Given the description of an element on the screen output the (x, y) to click on. 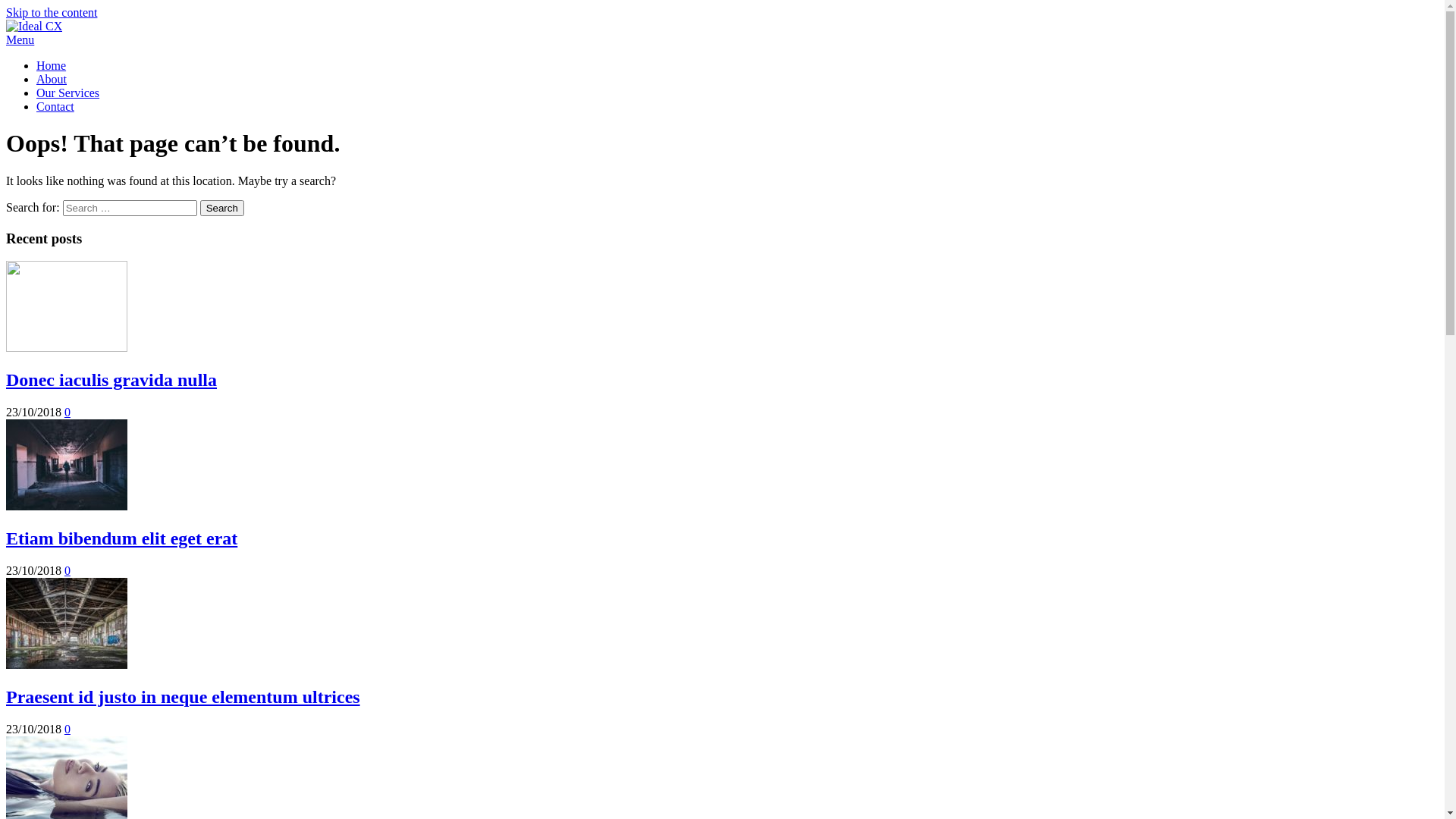
Donec iaculis gravida nulla Element type: hover (66, 347)
Etiam bibendum elit eget erat Element type: hover (66, 505)
Ideal CX Element type: text (28, 51)
About Element type: text (51, 78)
Contact Element type: text (55, 106)
0 Element type: text (67, 411)
Menu Element type: text (722, 40)
Etiam bibendum elit eget erat Element type: text (121, 538)
0 Element type: text (67, 570)
Our Services Element type: text (67, 92)
Donec iaculis gravida nulla Element type: text (111, 379)
Search Element type: text (222, 208)
Praesent id justo in neque elementum ultrices Element type: hover (66, 664)
0 Element type: text (67, 728)
Home Element type: text (50, 65)
Praesent id justo in neque elementum ultrices Element type: text (183, 696)
Skip to the content Element type: text (51, 12)
